Given the description of an element on the screen output the (x, y) to click on. 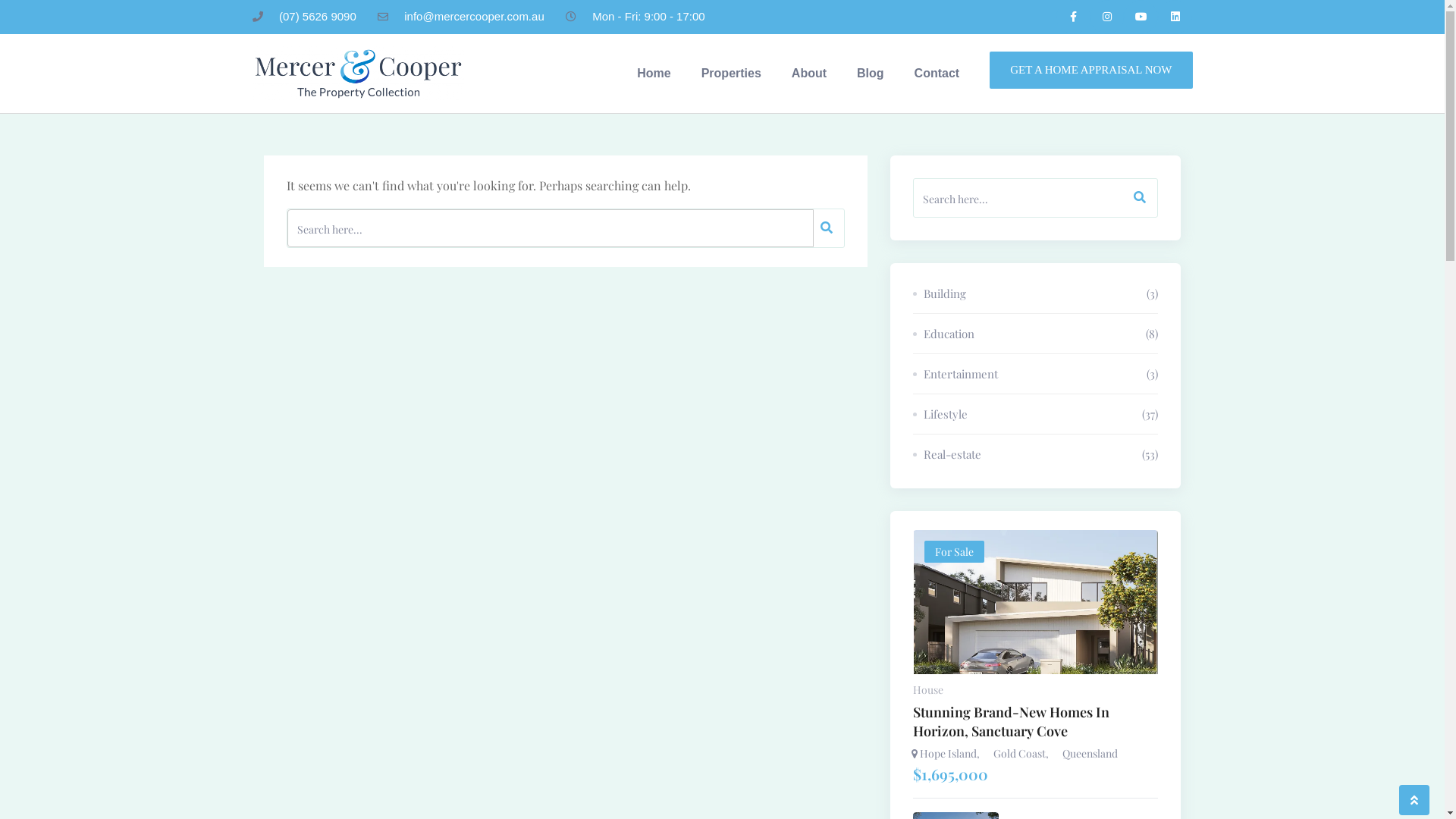
Building
(3) Element type: text (1035, 293)
About Element type: text (808, 73)
Lifestyle
(37) Element type: text (1035, 414)
Entertainment
(3) Element type: text (1035, 374)
Stunning Brand-New Homes In Horizon, Sanctuary Cove Element type: text (1035, 721)
Contact Element type: text (937, 73)
Real-estate
(53) Element type: text (1035, 449)
Blog Element type: text (870, 73)
For Sale Element type: text (1035, 618)
Education
(8) Element type: text (1035, 333)
House Element type: text (928, 689)
info@mercercooper.com.au Element type: text (460, 16)
Home Element type: text (653, 73)
(07) 5626 9090 Element type: text (303, 16)
Properties Element type: text (731, 73)
GET A HOME APPRAISAL NOW Element type: text (1090, 69)
